Given the description of an element on the screen output the (x, y) to click on. 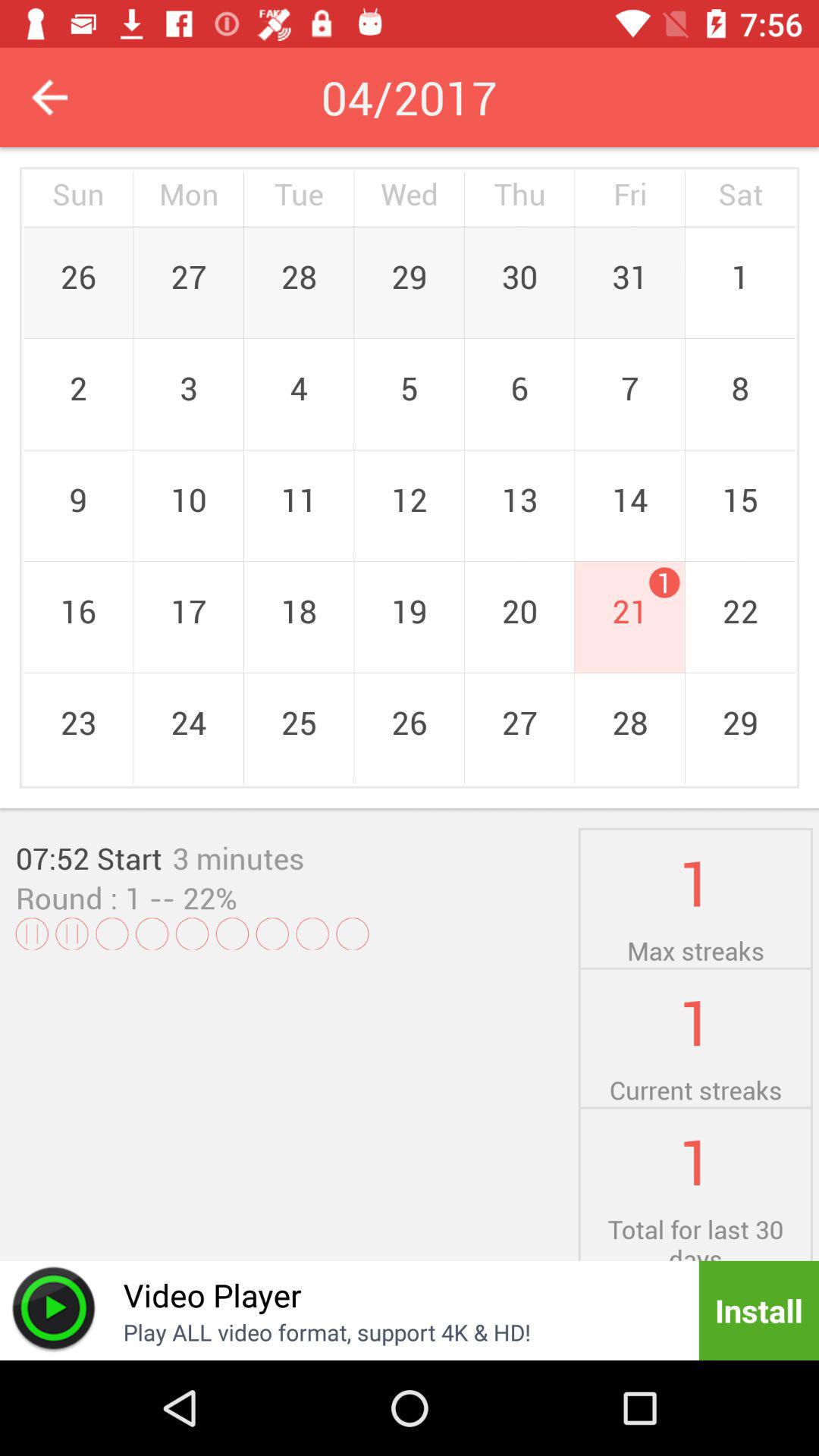
go back (49, 97)
